Given the description of an element on the screen output the (x, y) to click on. 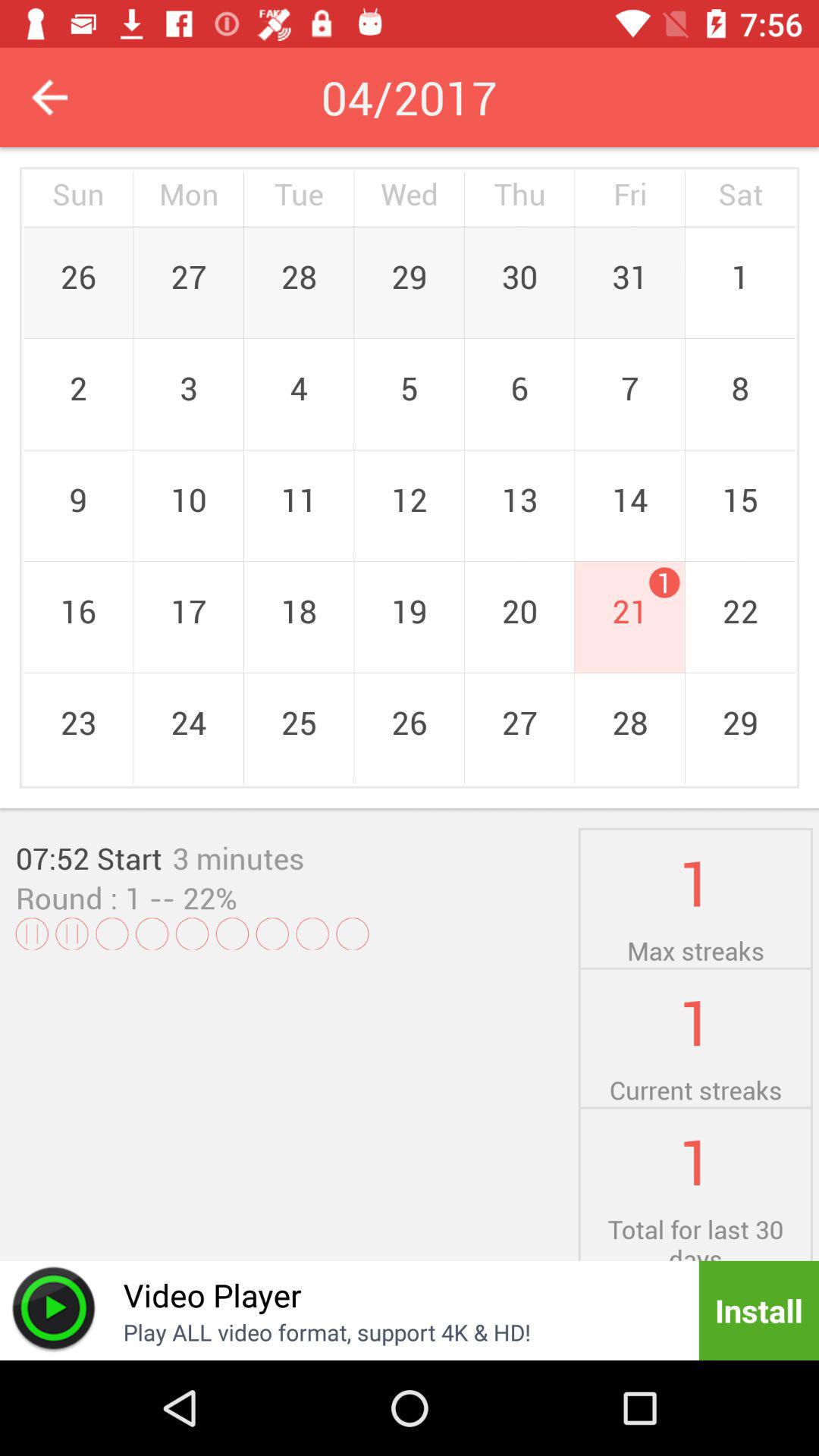
go back (49, 97)
